Given the description of an element on the screen output the (x, y) to click on. 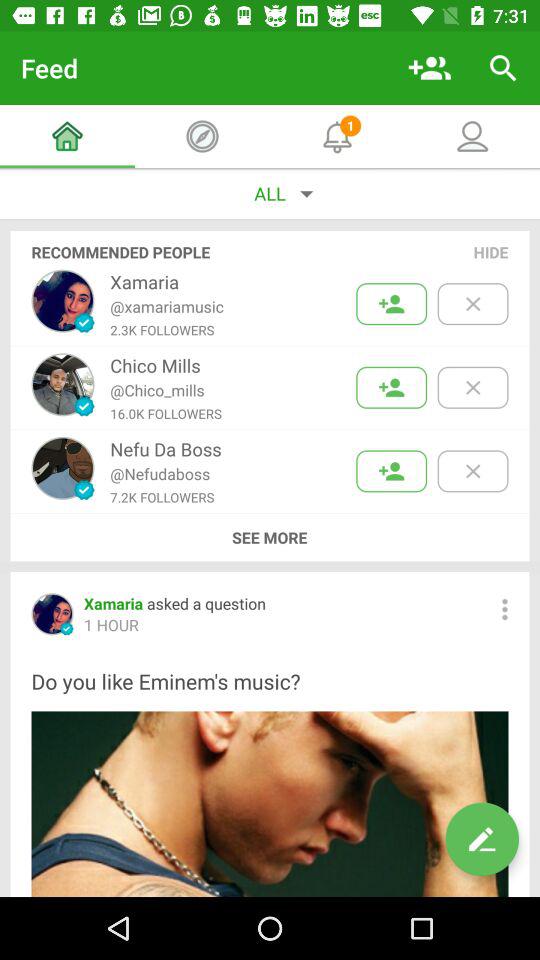
choose icon above xamaria asked a icon (269, 537)
